Given the description of an element on the screen output the (x, y) to click on. 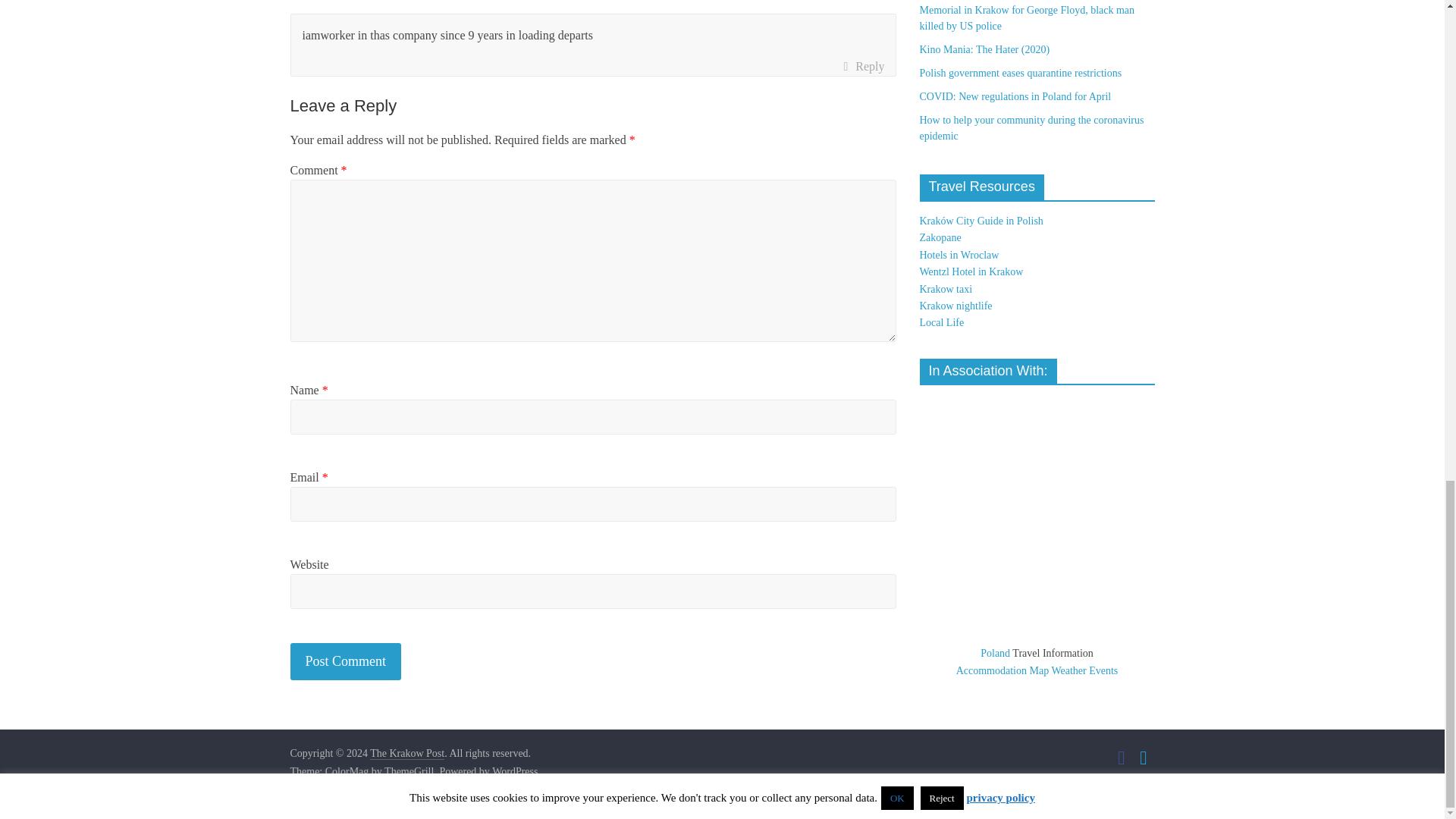
ColorMag (346, 771)
Post Comment (345, 661)
The Krakow Post (406, 753)
WordPress (514, 771)
